Given the description of an element on the screen output the (x, y) to click on. 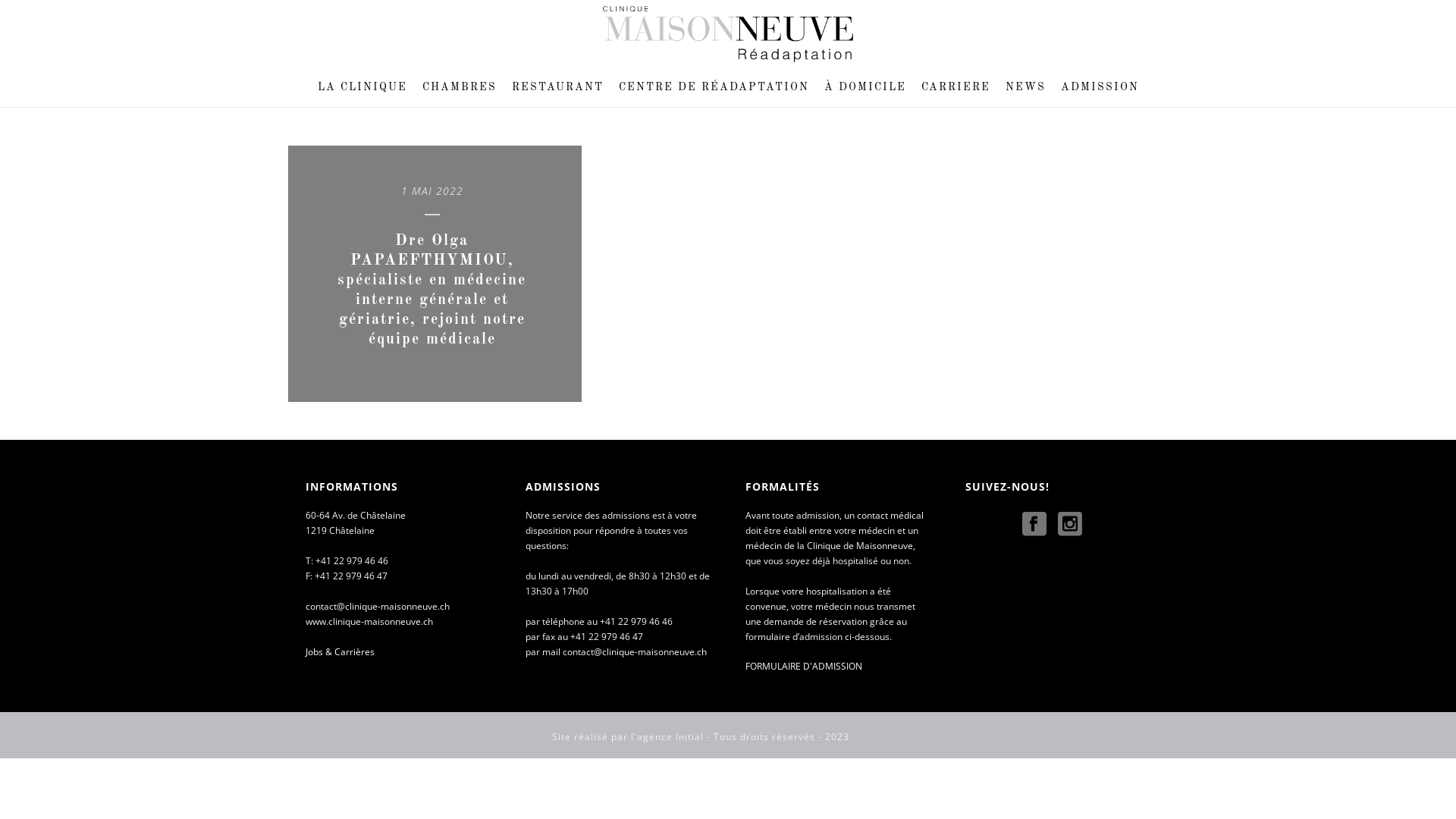
Clinique de Maisonneuve Element type: hover (727, 34)
LA CLINIQUE Element type: text (361, 87)
CARRIERE Element type: text (955, 87)
Initial Element type: text (689, 736)
1 MAI 2022 Element type: text (432, 190)
ADMISSION Element type: text (1098, 87)
CHAMBRES Element type: text (458, 87)
RESTAURANT Element type: text (556, 87)
NEWS Element type: text (1025, 87)
 instagram Element type: hover (1069, 524)
FORMULAIRE D'ADMISSION Element type: text (803, 665)
 facebook Element type: hover (1034, 524)
